Given the description of an element on the screen output the (x, y) to click on. 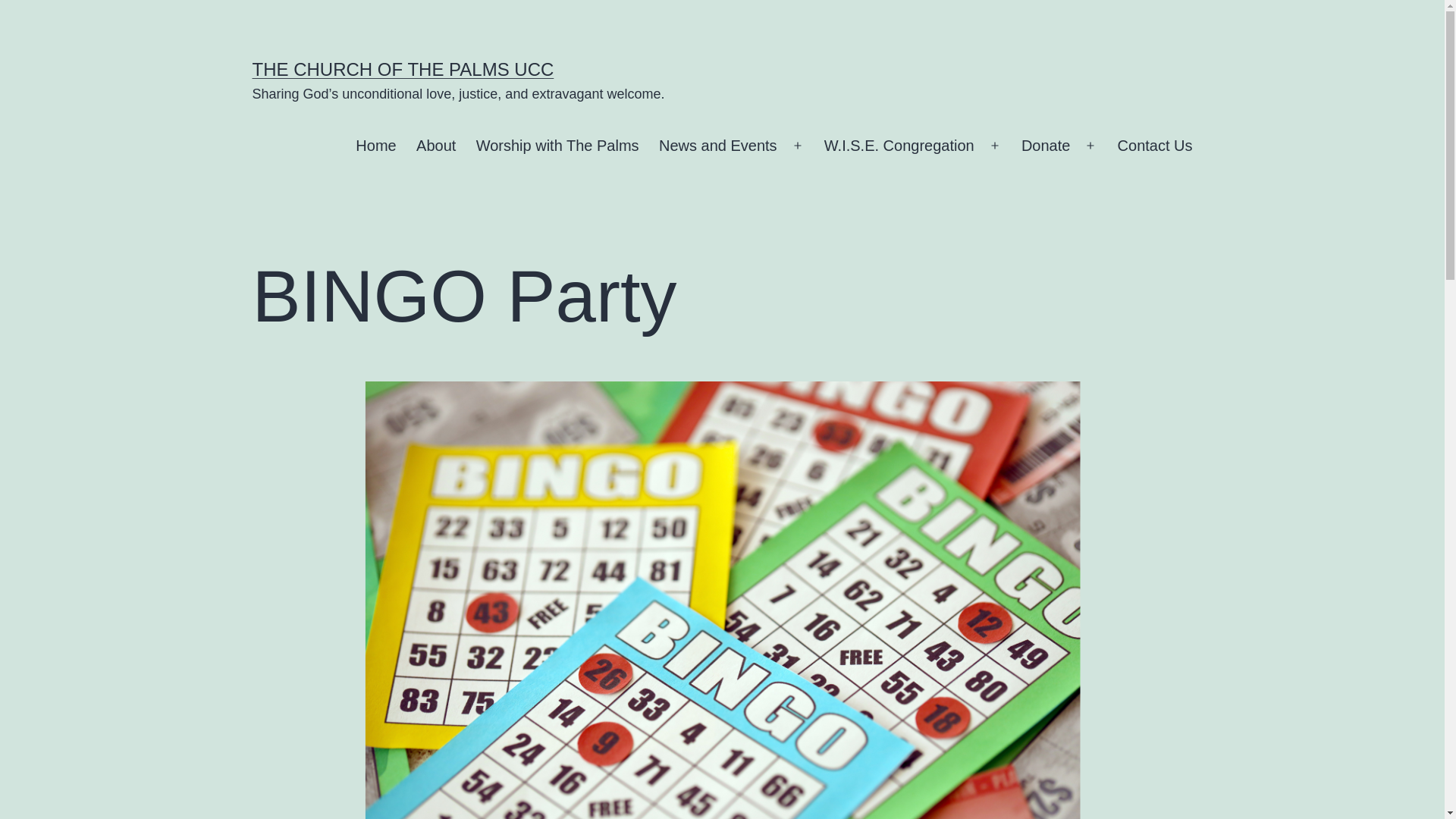
About (435, 145)
Contact Us (1154, 145)
W.I.S.E. Congregation (898, 145)
THE CHURCH OF THE PALMS UCC (402, 68)
News and Events (718, 145)
Worship with The Palms (556, 145)
Donate (1045, 145)
Home (376, 145)
